Given the description of an element on the screen output the (x, y) to click on. 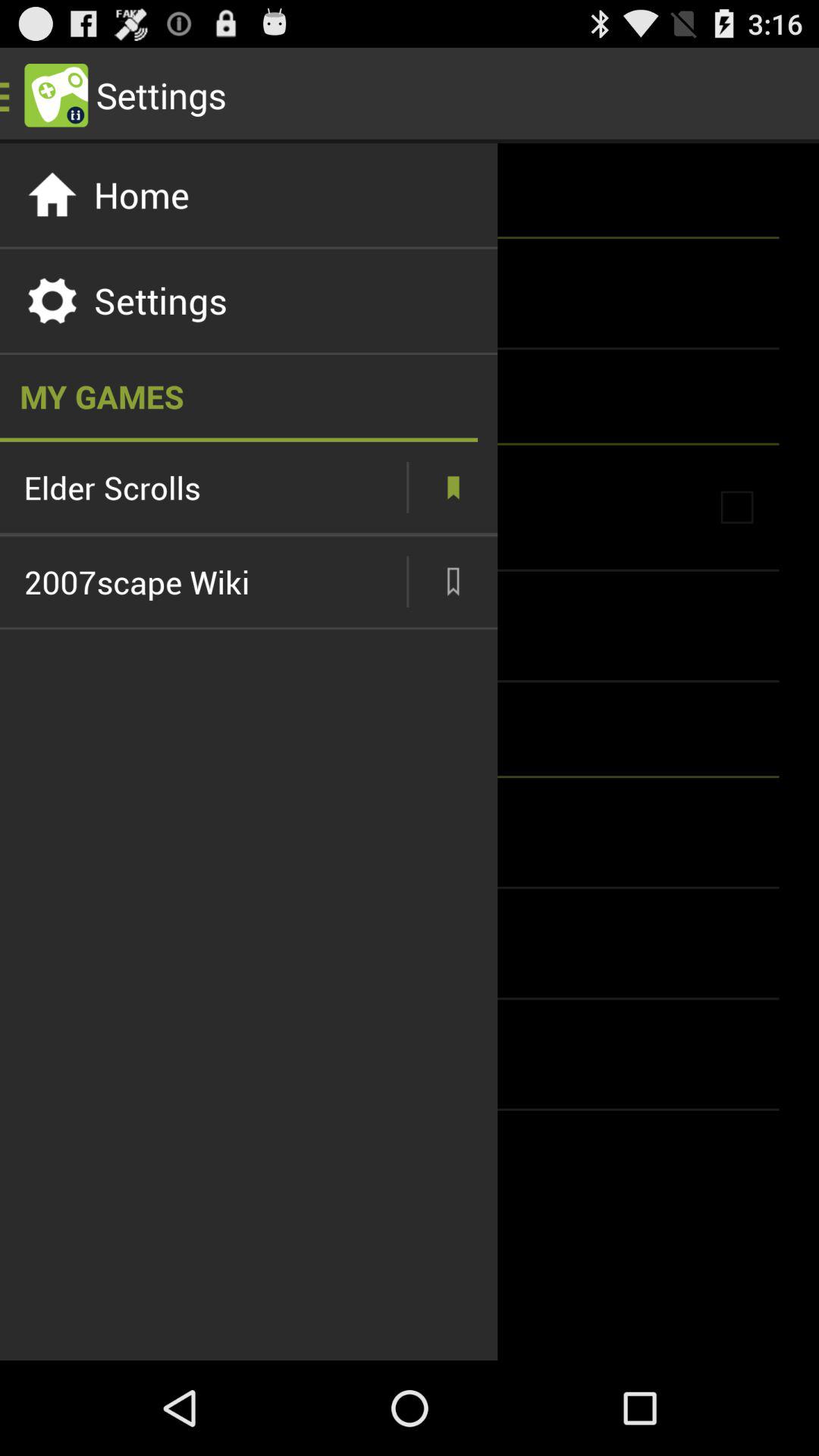
click on the save icon which is beside the elder scrolls (452, 487)
